Given the description of an element on the screen output the (x, y) to click on. 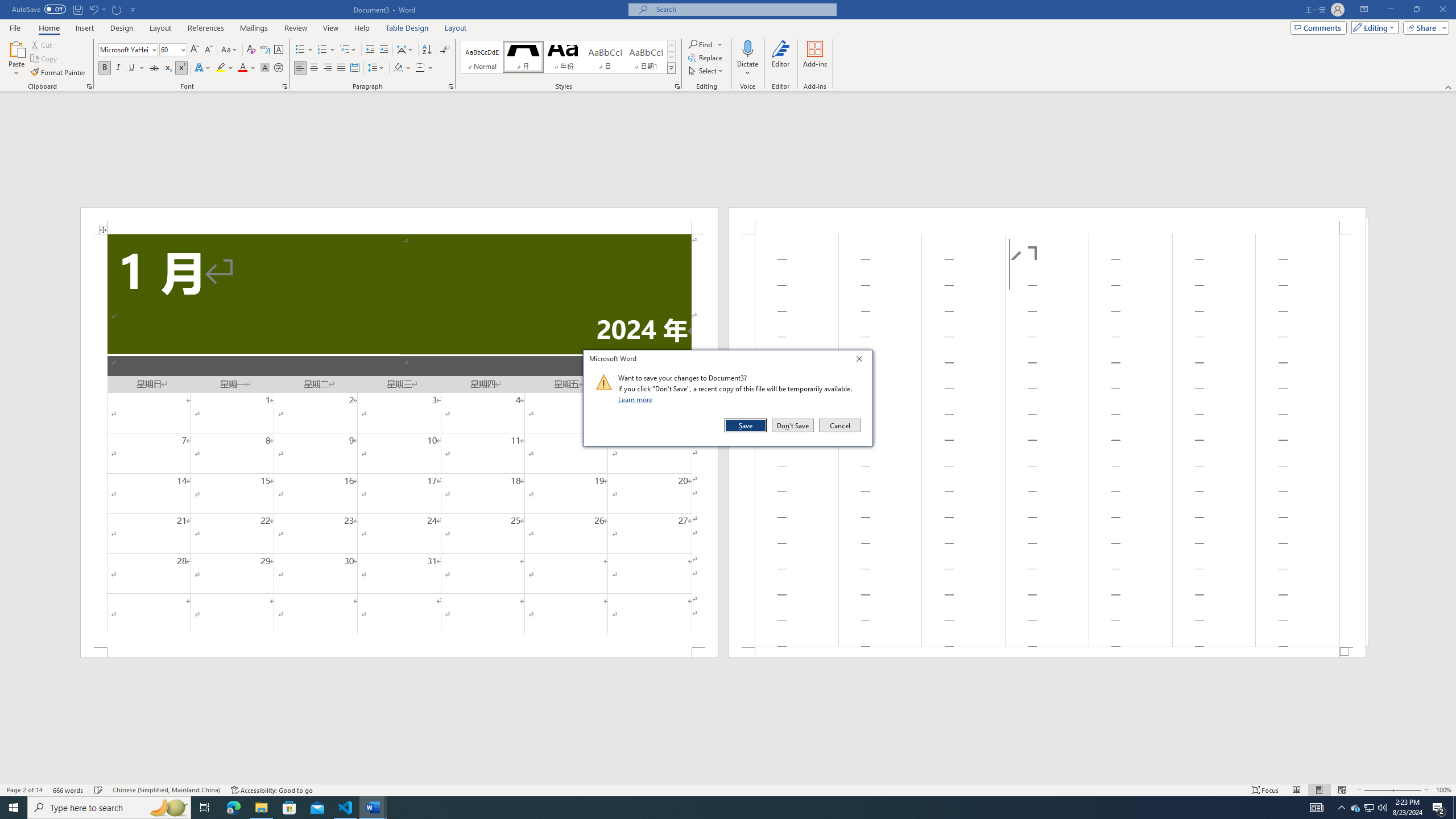
Undo Superscript (92, 9)
